Given the description of an element on the screen output the (x, y) to click on. 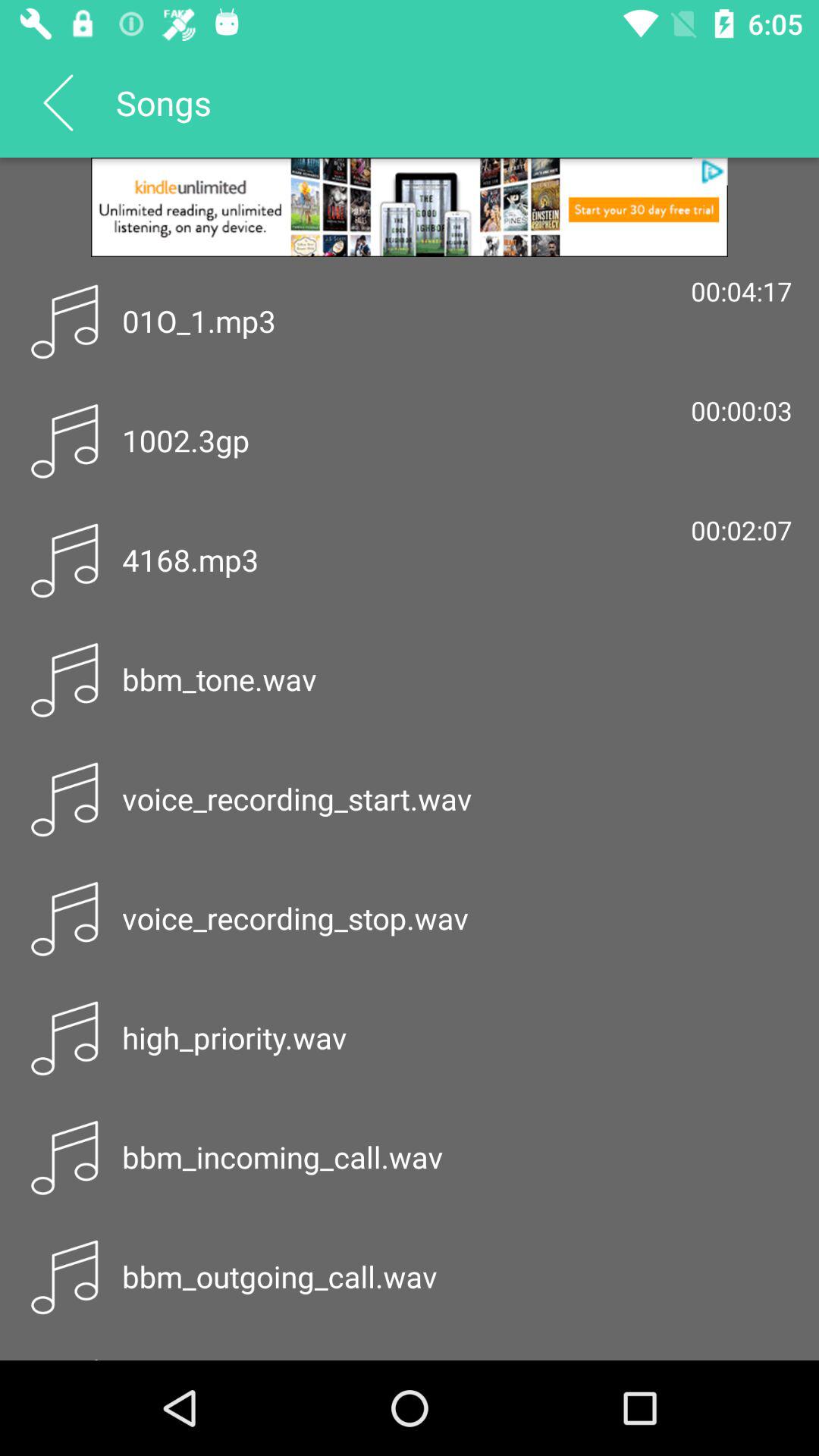
advertisement link (409, 207)
